Given the description of an element on the screen output the (x, y) to click on. 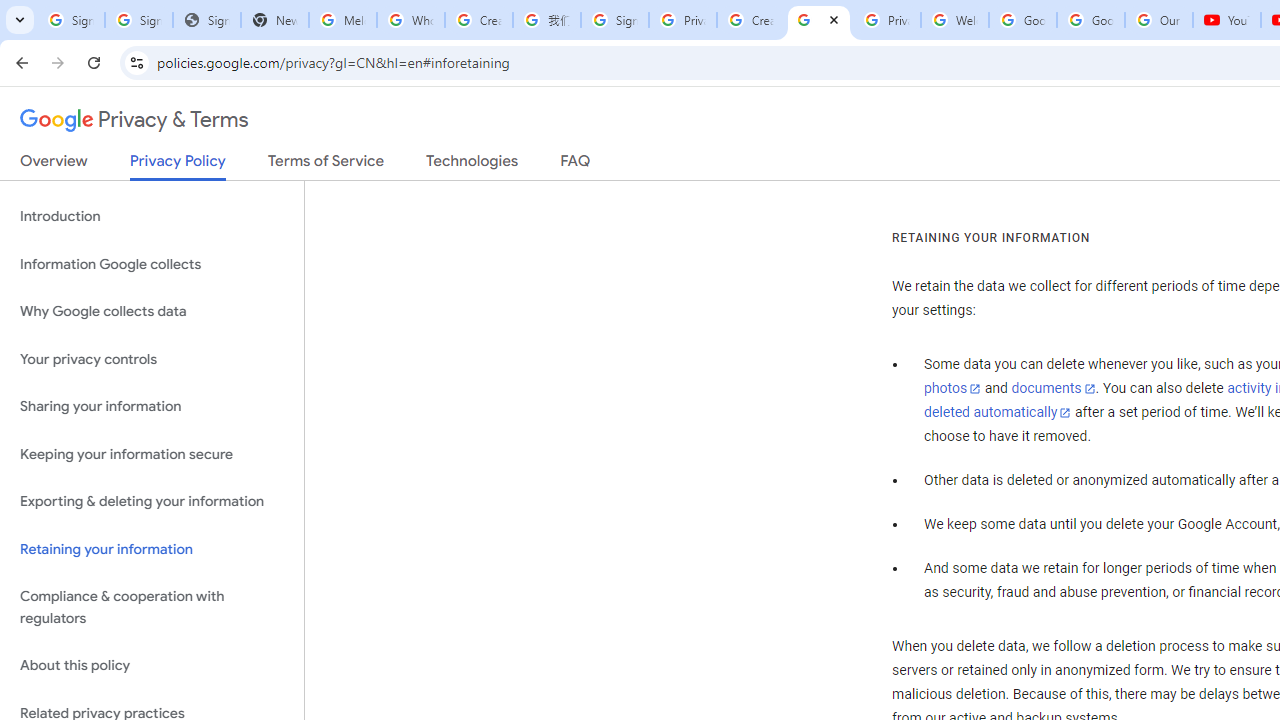
Technologies (472, 165)
Welcome to My Activity (954, 20)
Create your Google Account (750, 20)
Introduction (152, 216)
Keeping your information secure (152, 453)
Information Google collects (152, 263)
Privacy Policy (177, 166)
Sign in - Google Accounts (70, 20)
Retaining your information (152, 548)
Who is my administrator? - Google Account Help (411, 20)
Overview (54, 165)
